Given the description of an element on the screen output the (x, y) to click on. 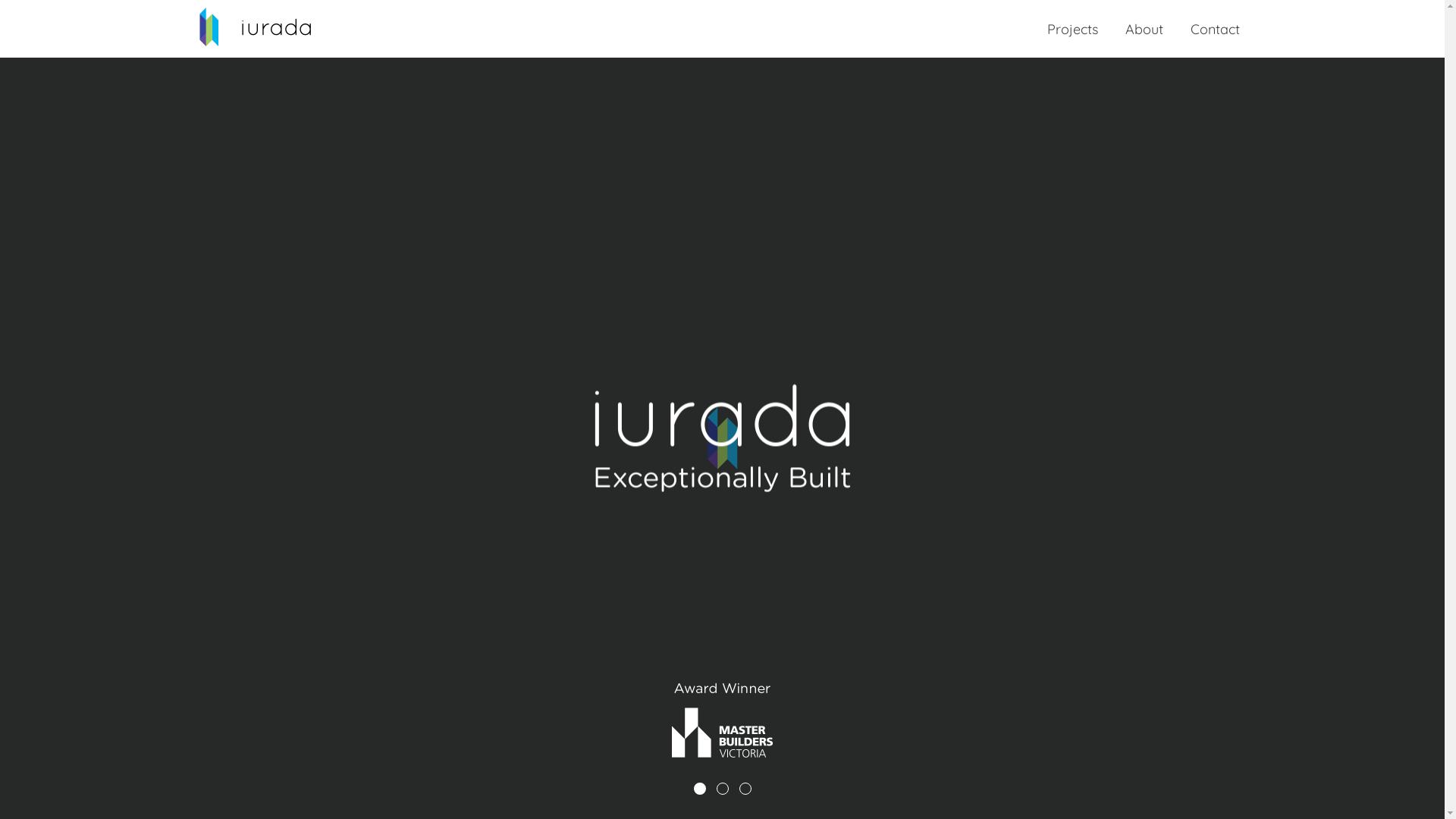
Contact Element type: text (1214, 29)
Projects Element type: text (1071, 29)
About Element type: text (1144, 29)
Return to the home page Element type: hover (254, 25)
